Given the description of an element on the screen output the (x, y) to click on. 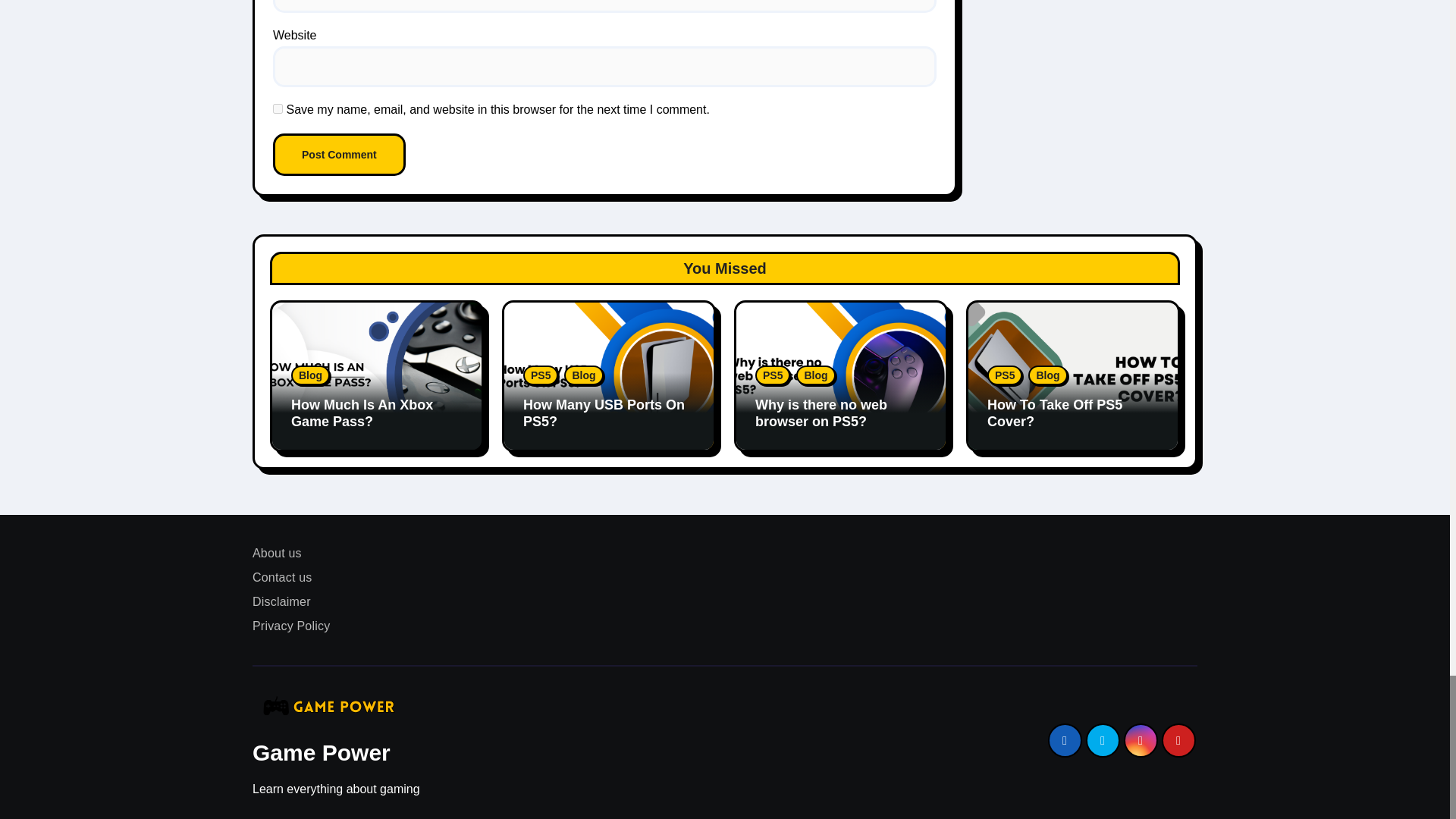
Post Comment (339, 154)
Permalink to: How Much Is An Xbox Game Pass? (361, 413)
Permalink to: How To Take Off PS5 Cover? (1054, 413)
yes (277, 108)
Permalink to: How Many USB Ports On PS5? (603, 413)
Permalink to: Why is there no web browser on PS5? (820, 413)
